Given the description of an element on the screen output the (x, y) to click on. 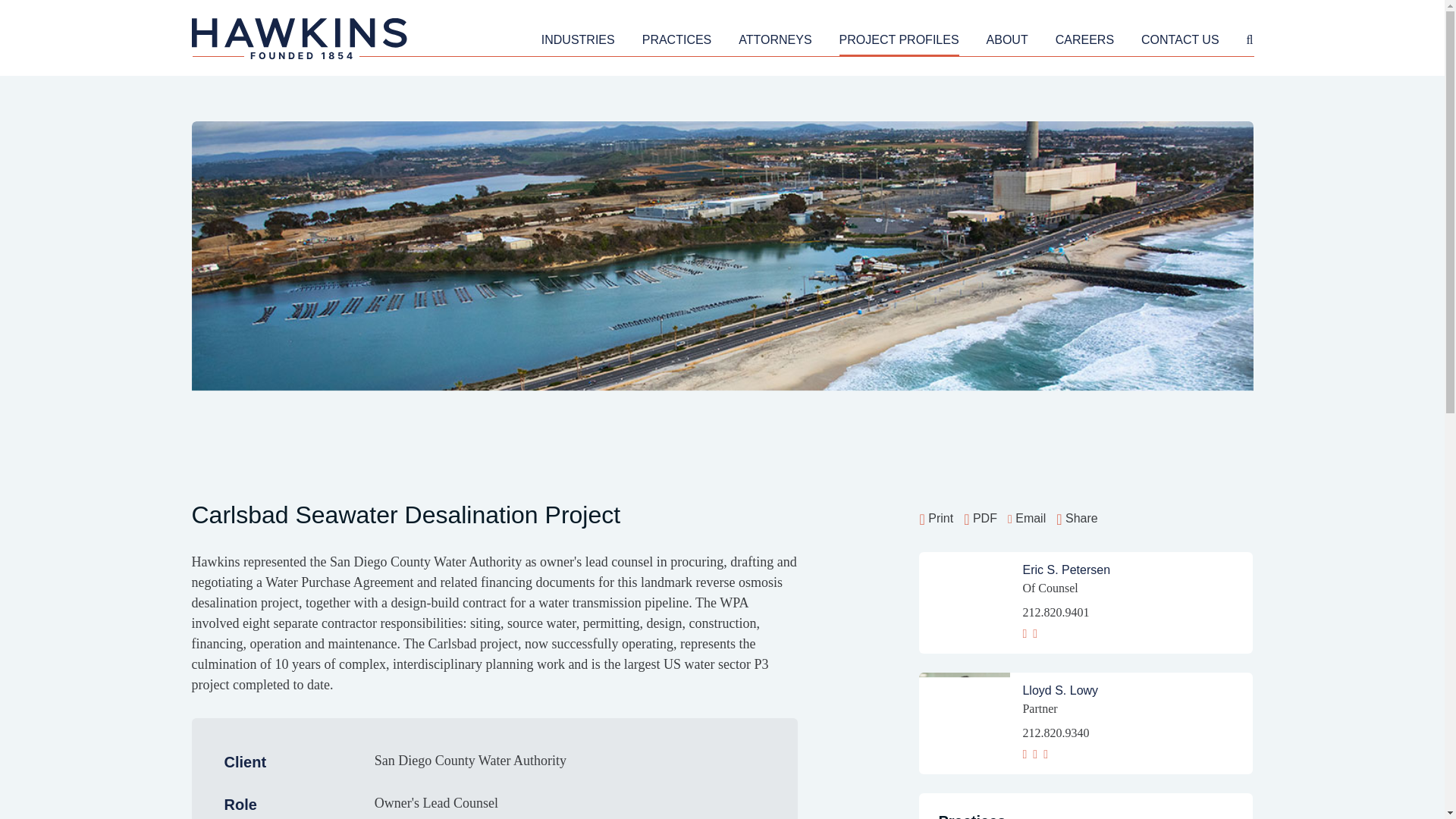
ABOUT (1007, 43)
PRACTICES (676, 43)
ATTORNEYS (774, 43)
Email Page (1026, 518)
PDF (980, 518)
CONTACT US (1180, 43)
Share (1077, 518)
INDUSTRIES (577, 43)
Email (1026, 518)
Print Page (935, 518)
